Given the description of an element on the screen output the (x, y) to click on. 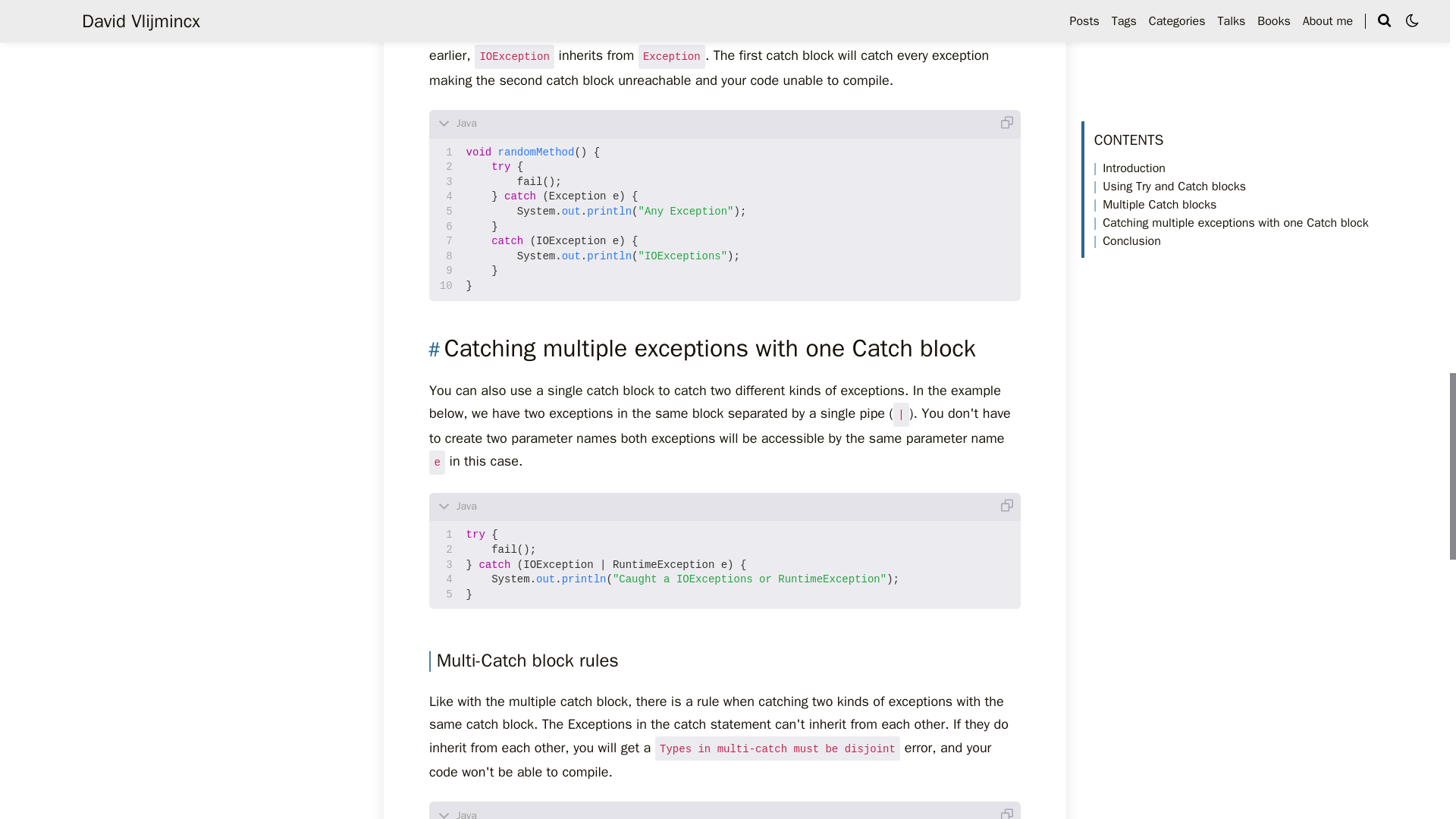
Copy to clipboard (1007, 810)
